Given the description of an element on the screen output the (x, y) to click on. 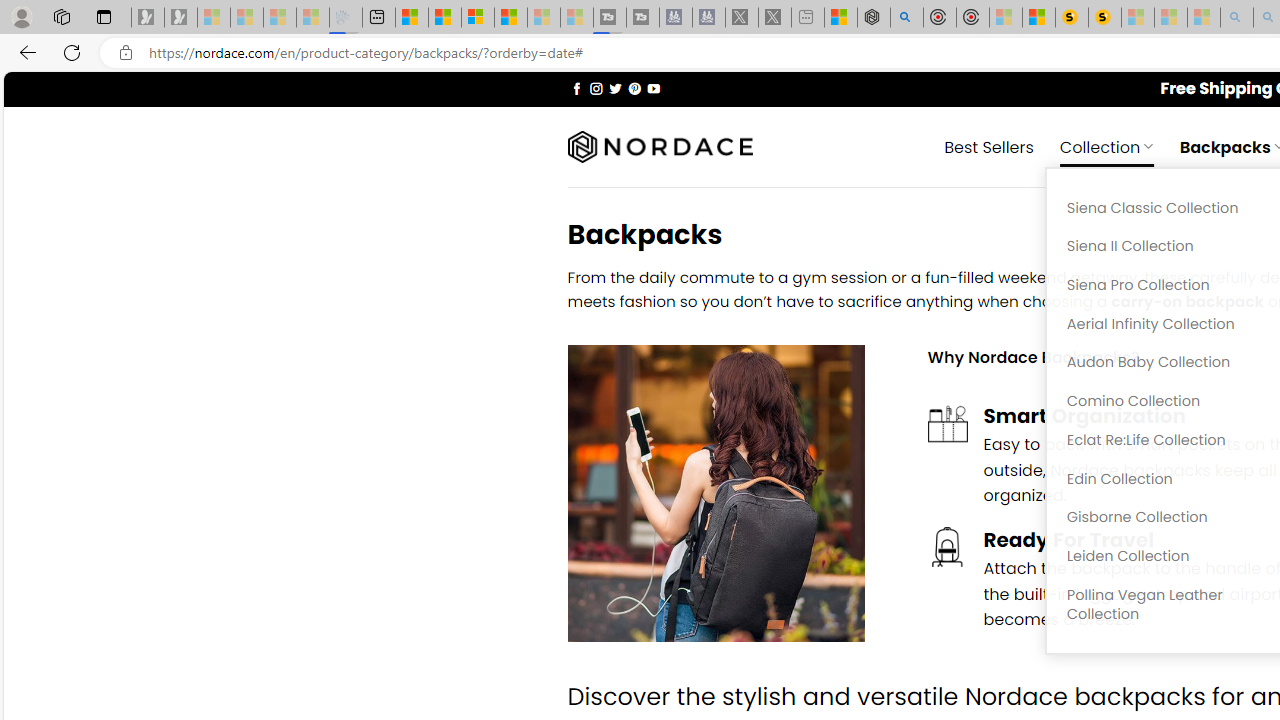
Refresh (72, 52)
View site information (125, 53)
poe - Search (906, 17)
X - Sleeping (775, 17)
Workspaces (61, 16)
Follow on YouTube (653, 88)
Follow on Twitter (615, 88)
Nordace (659, 147)
Follow on Pinterest (634, 88)
